Given the description of an element on the screen output the (x, y) to click on. 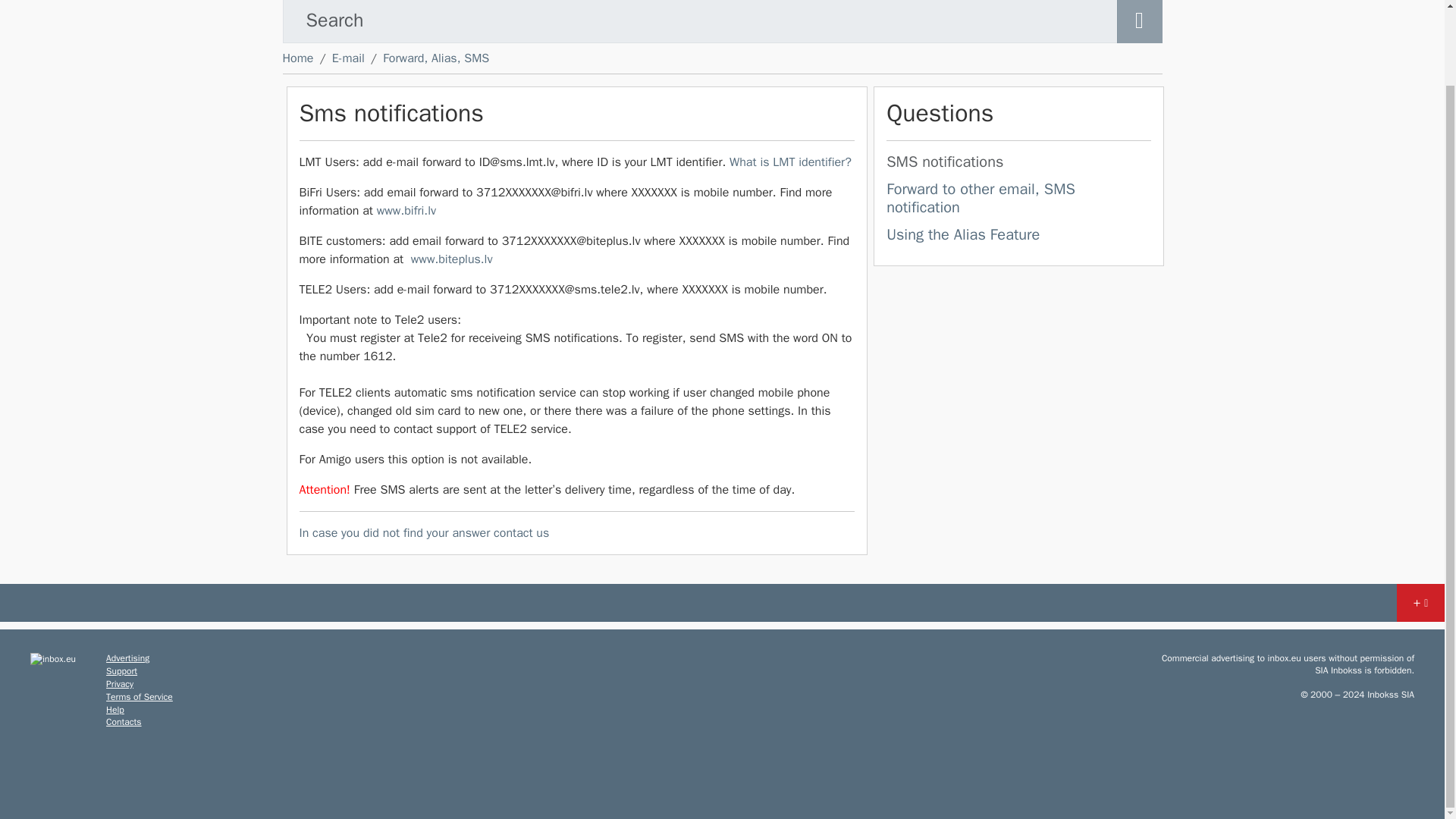
Privacy (119, 684)
In case you did not find your answer contact us (423, 532)
www.biteplus.lv (451, 258)
Terms of Service (139, 696)
Advertising (127, 657)
Forward to other email, SMS notification (980, 198)
Using the Alias Feature (962, 234)
E-mail (348, 58)
Search in help (1138, 21)
SMS notifications (1018, 163)
